Given the description of an element on the screen output the (x, y) to click on. 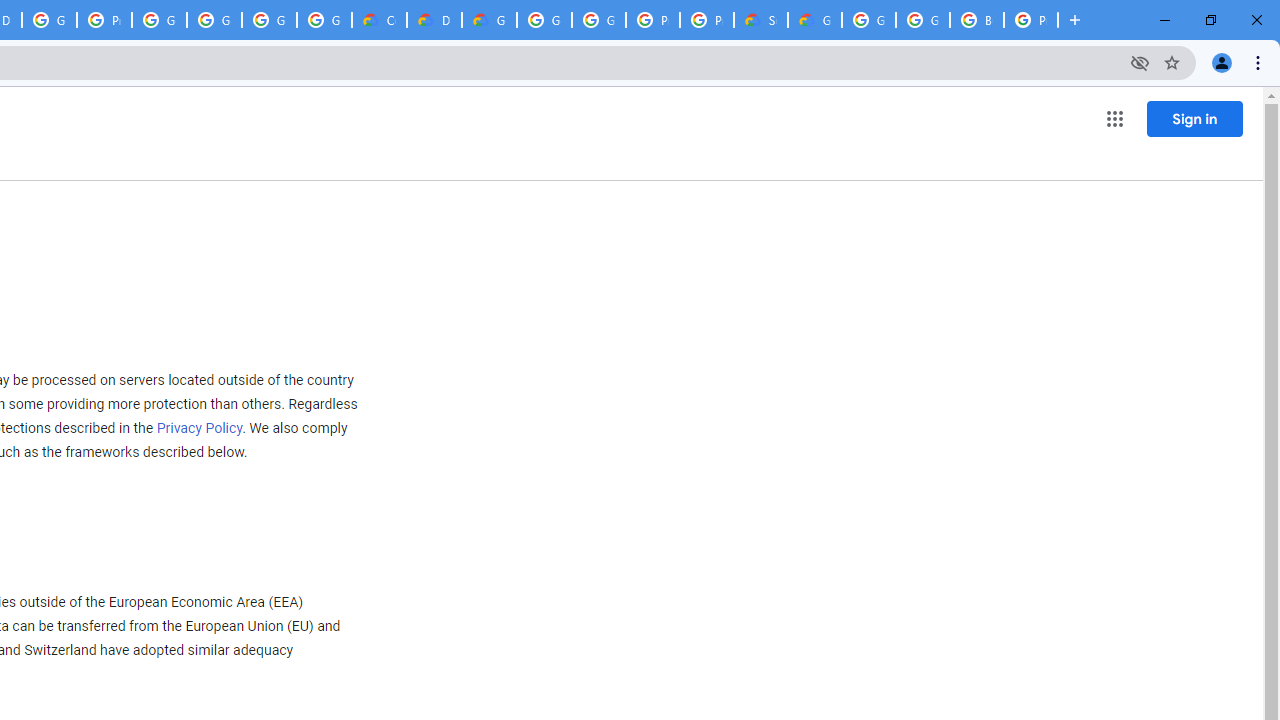
Gemini for Business and Developers | Google Cloud (489, 20)
